Given the description of an element on the screen output the (x, y) to click on. 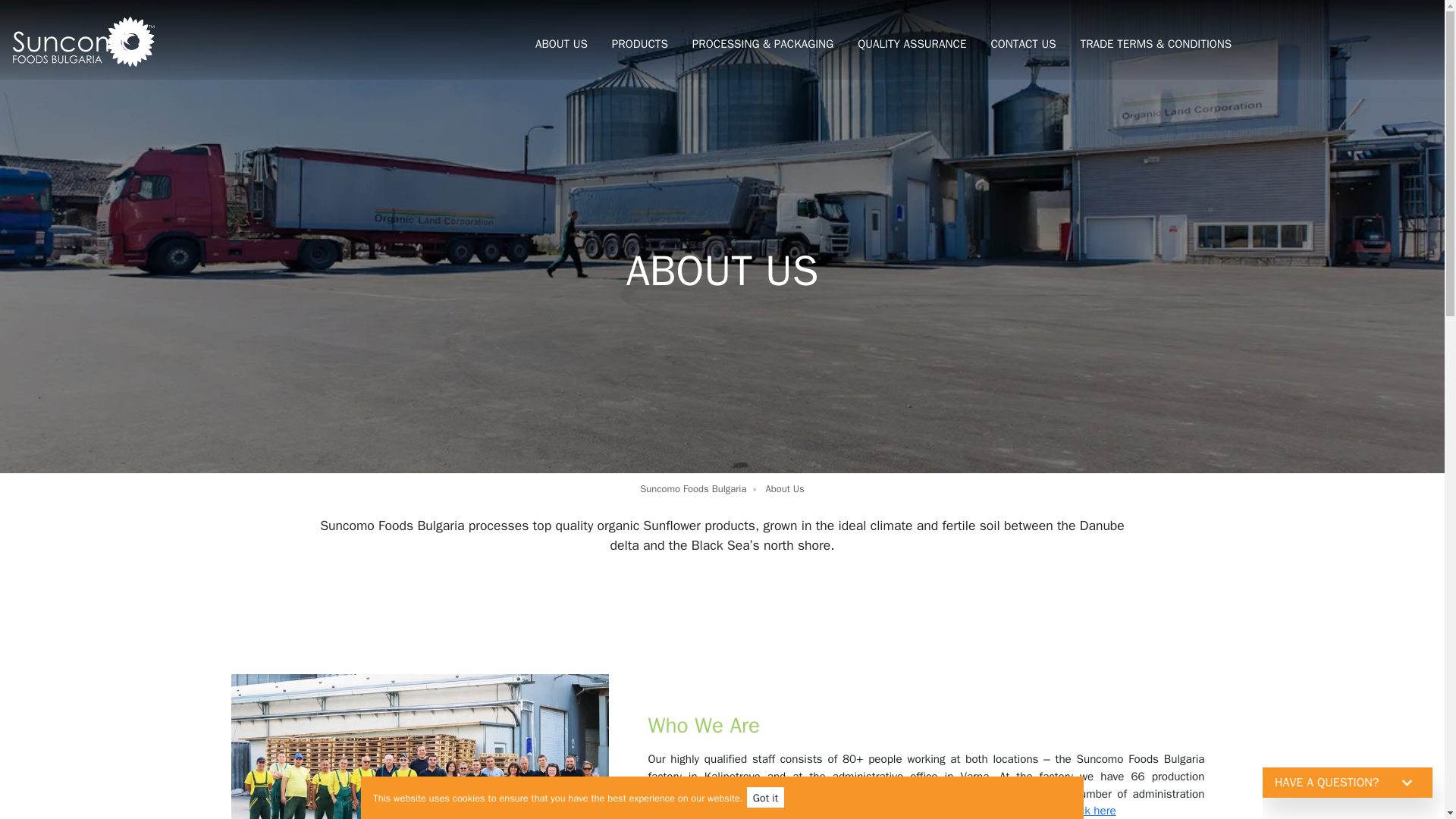
Suncomo Foods Bulgaria (692, 489)
QUALITY ASSURANCE (911, 43)
PRODUCTS (639, 43)
Got it (765, 797)
CONTACT US (1022, 43)
ABOUT US (561, 43)
click here (1091, 810)
